Given the description of an element on the screen output the (x, y) to click on. 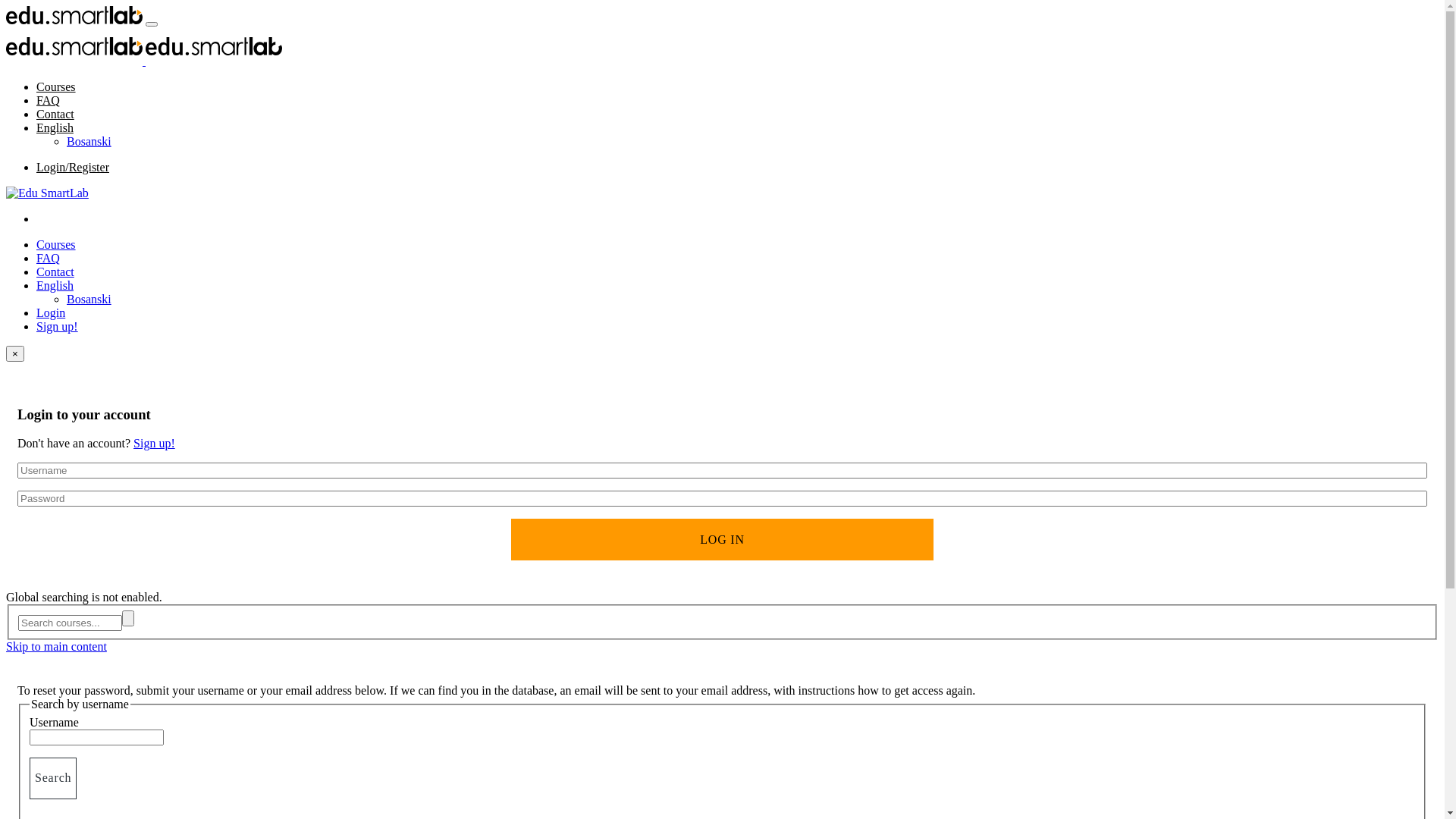
Contact Element type: text (55, 271)
English Element type: text (54, 285)
FAQ Element type: text (47, 257)
Login/Register Element type: text (72, 166)
English Element type: text (54, 127)
Courses Element type: text (55, 86)
Courses Element type: text (55, 244)
Sign up! Element type: text (57, 326)
Bosanski Element type: text (88, 140)
Search Element type: text (52, 778)
Login Element type: text (50, 312)
Skip to main content Element type: text (56, 646)
Sign up! Element type: text (154, 442)
FAQ Element type: text (47, 100)
LOG IN Element type: text (722, 539)
Contact Element type: text (55, 113)
Bosanski Element type: text (88, 298)
